Given the description of an element on the screen output the (x, y) to click on. 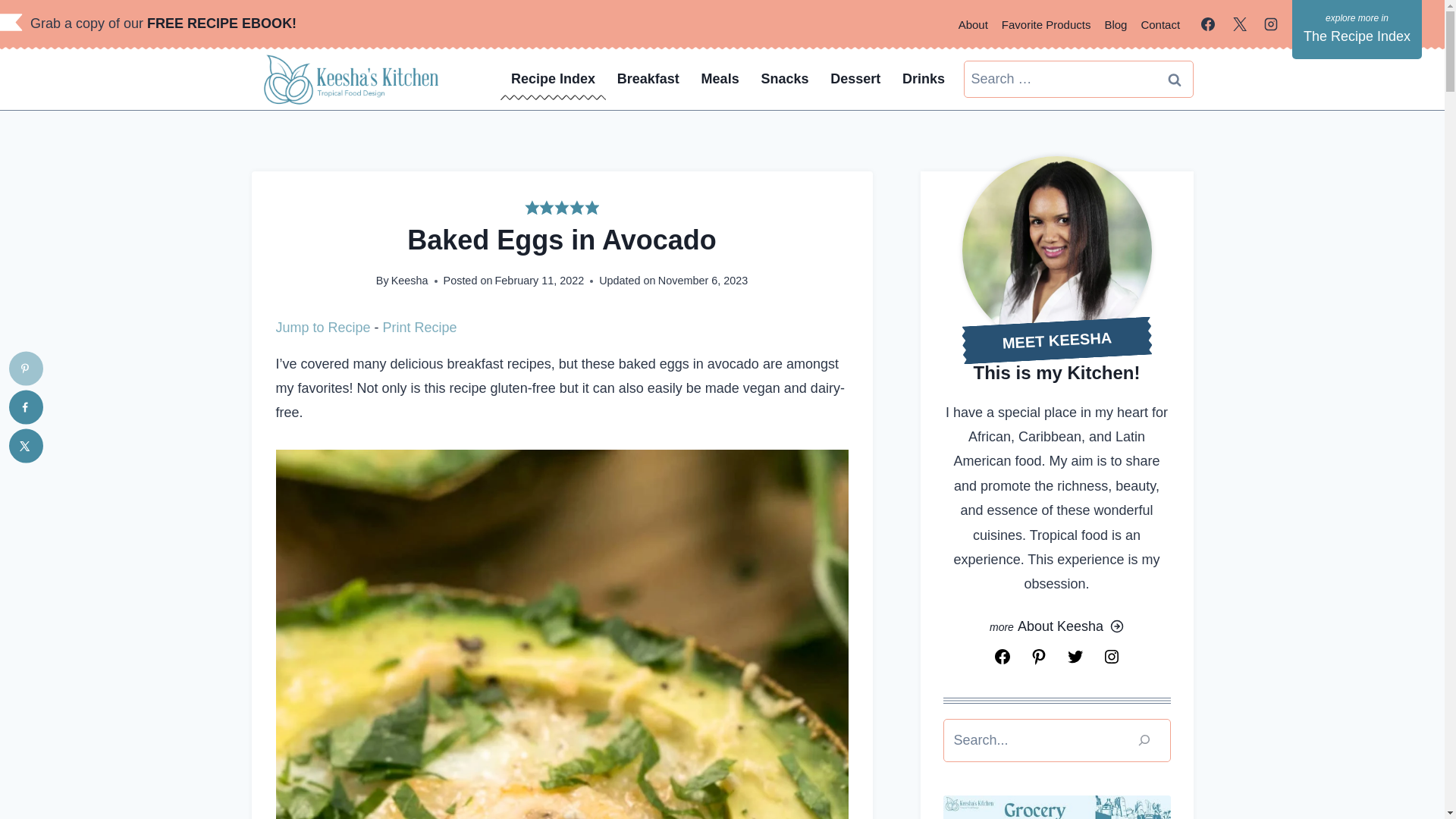
Breakfast (647, 78)
Search (1174, 78)
Share on Facebook (25, 406)
Blog (1115, 24)
Search (1174, 78)
About (973, 24)
Recipe Index (553, 78)
Favorite Products (1045, 24)
FREE RECIPE EBOOK!   (225, 23)
Snacks (784, 78)
